Given the description of an element on the screen output the (x, y) to click on. 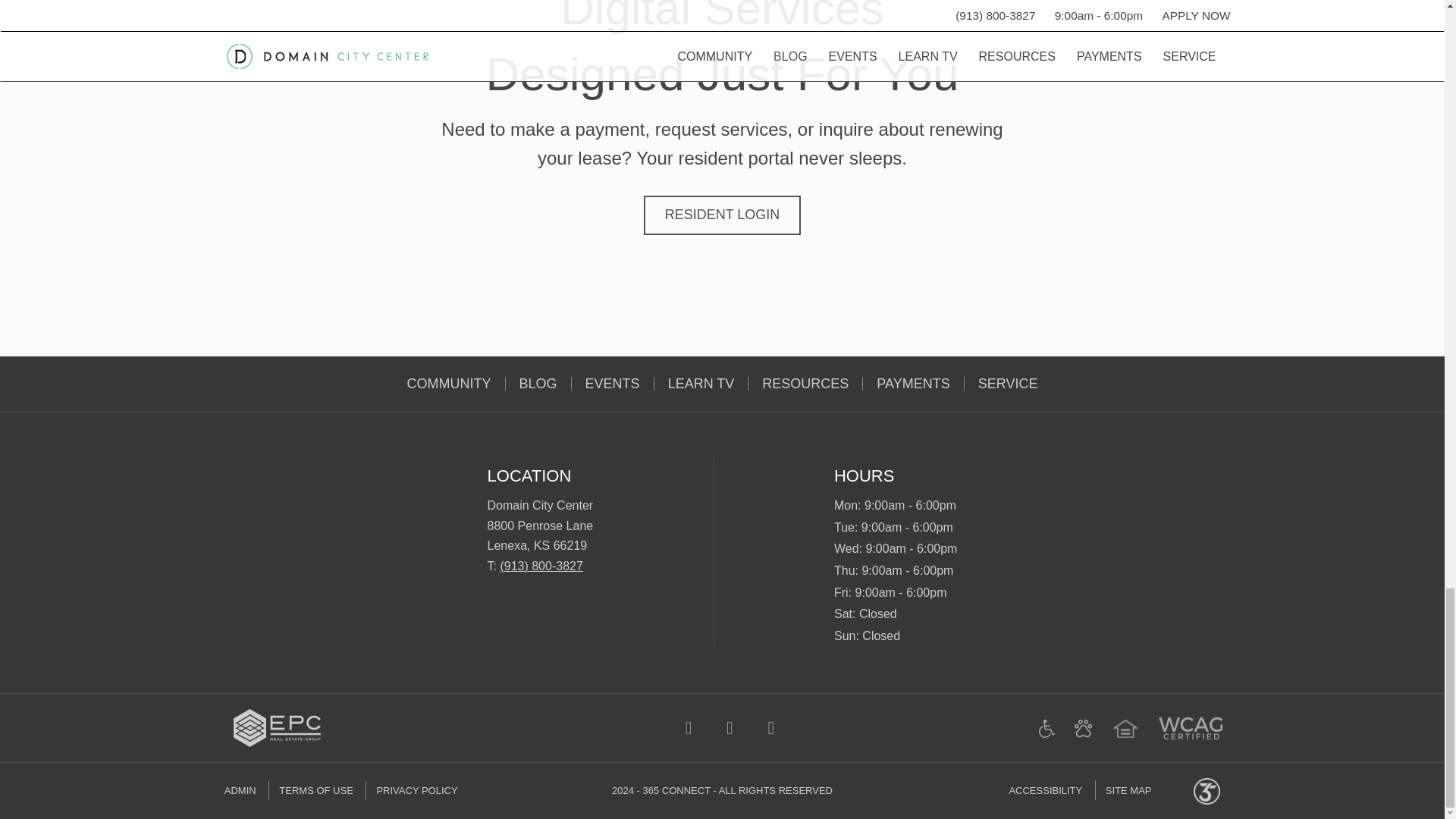
COMMUNITY (449, 383)
LEARN TV (701, 383)
TERMS OF USE (314, 790)
SERVICE (1007, 383)
RESOURCES (805, 383)
ADMIN (245, 790)
SITE MAP (1127, 790)
EVENTS (612, 383)
BLOG (538, 383)
PAYMENTS (913, 383)
ACCESSIBILITY (1050, 790)
RESIDENT LOGIN (722, 215)
PRIVACY POLICY (416, 790)
